Given the description of an element on the screen output the (x, y) to click on. 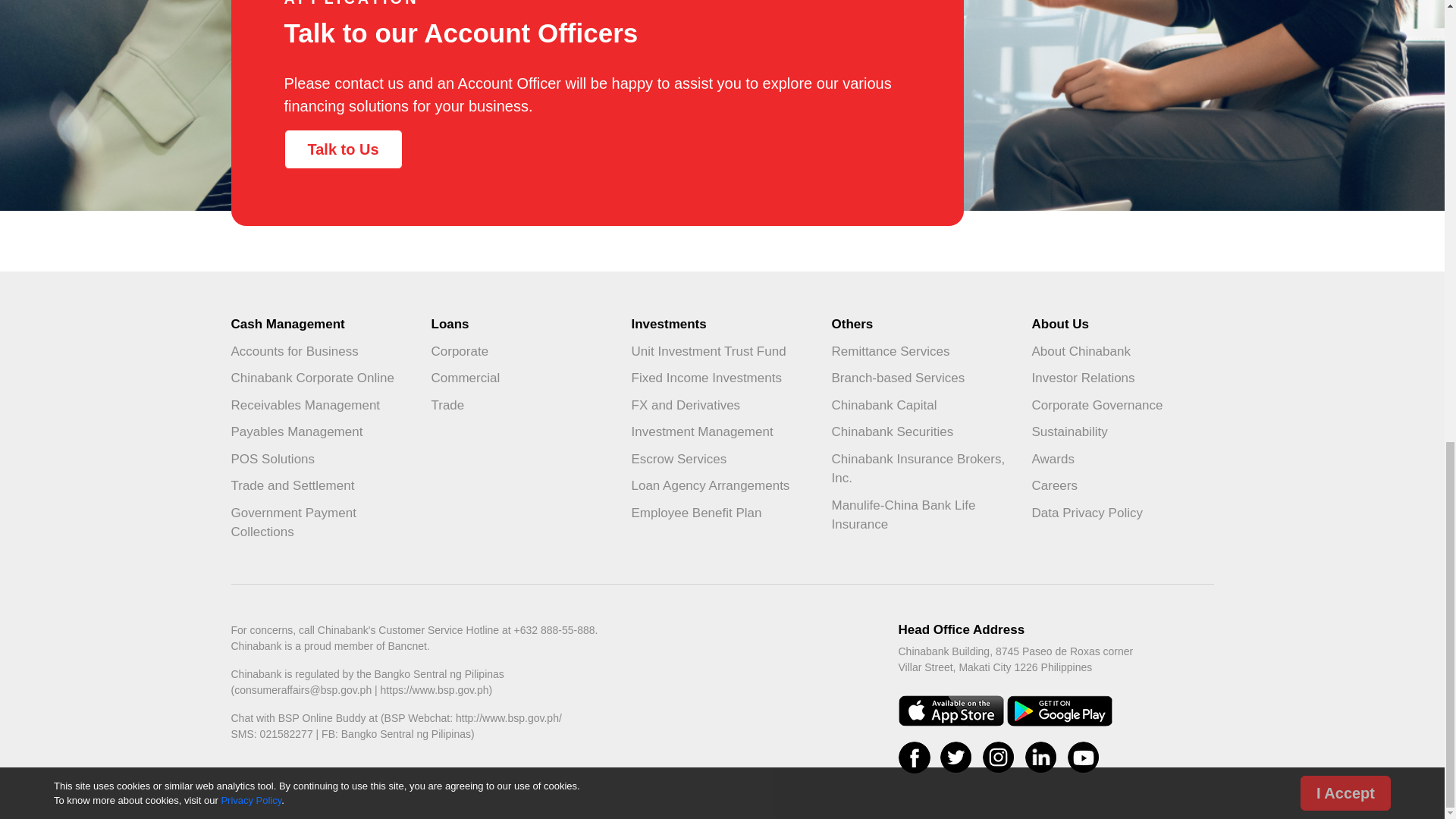
Chinabank Corporate Online (321, 378)
Talk to Us (342, 148)
Commercial (521, 378)
Accounts for Business (321, 351)
Payables Management (321, 431)
Corporate (521, 351)
Receivables Management (321, 405)
POS Solutions (321, 459)
Cash Management (321, 324)
Trade and Settlement (321, 485)
Government Payment Collections (321, 522)
Loans (521, 324)
